Given the description of an element on the screen output the (x, y) to click on. 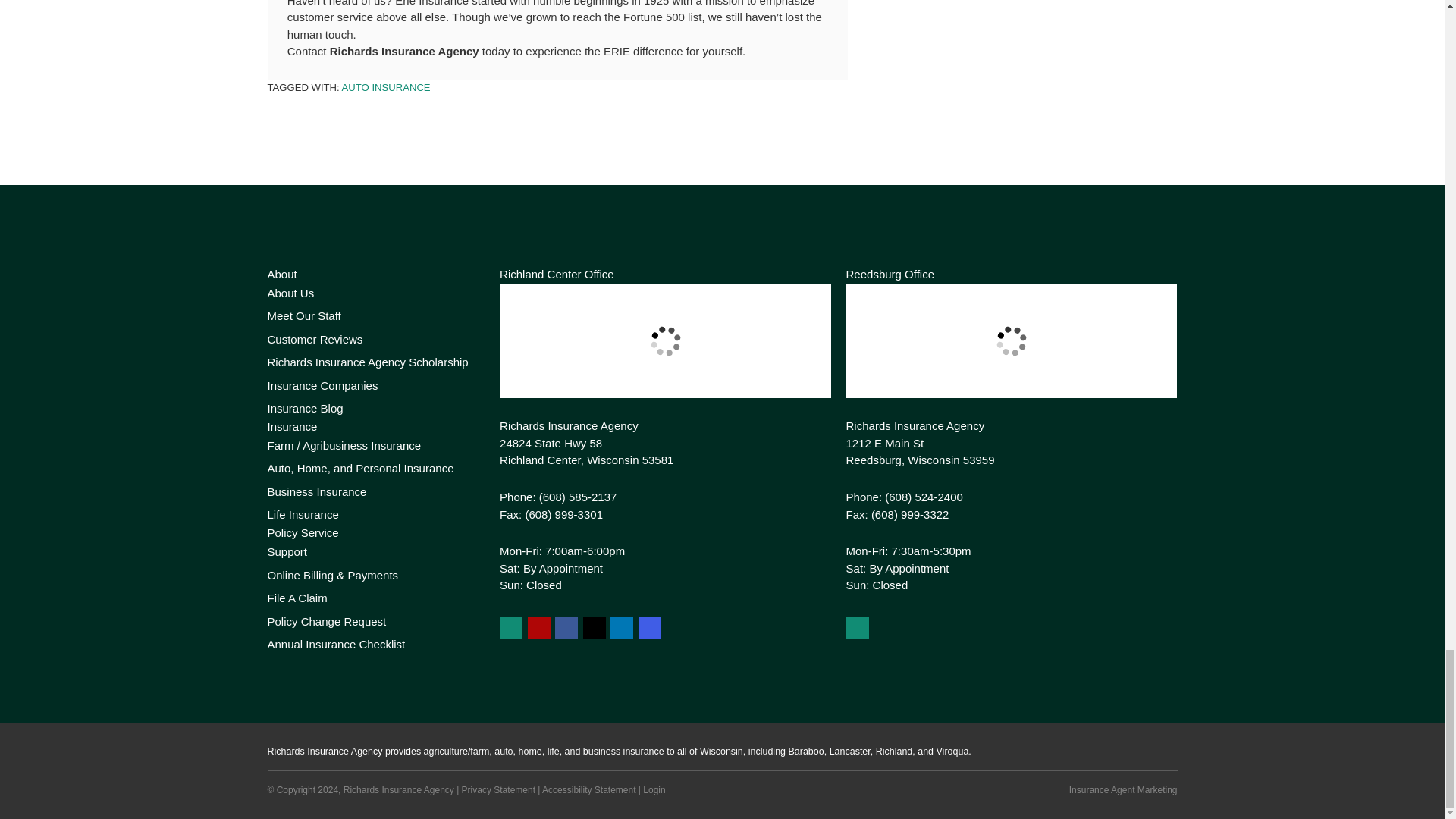
Facebook (566, 627)
X (594, 627)
Yelp (538, 627)
Google Maps (857, 627)
Google Maps (510, 627)
Instagram (650, 627)
Auto Insurance (386, 87)
LinkedIn (621, 627)
